Given the description of an element on the screen output the (x, y) to click on. 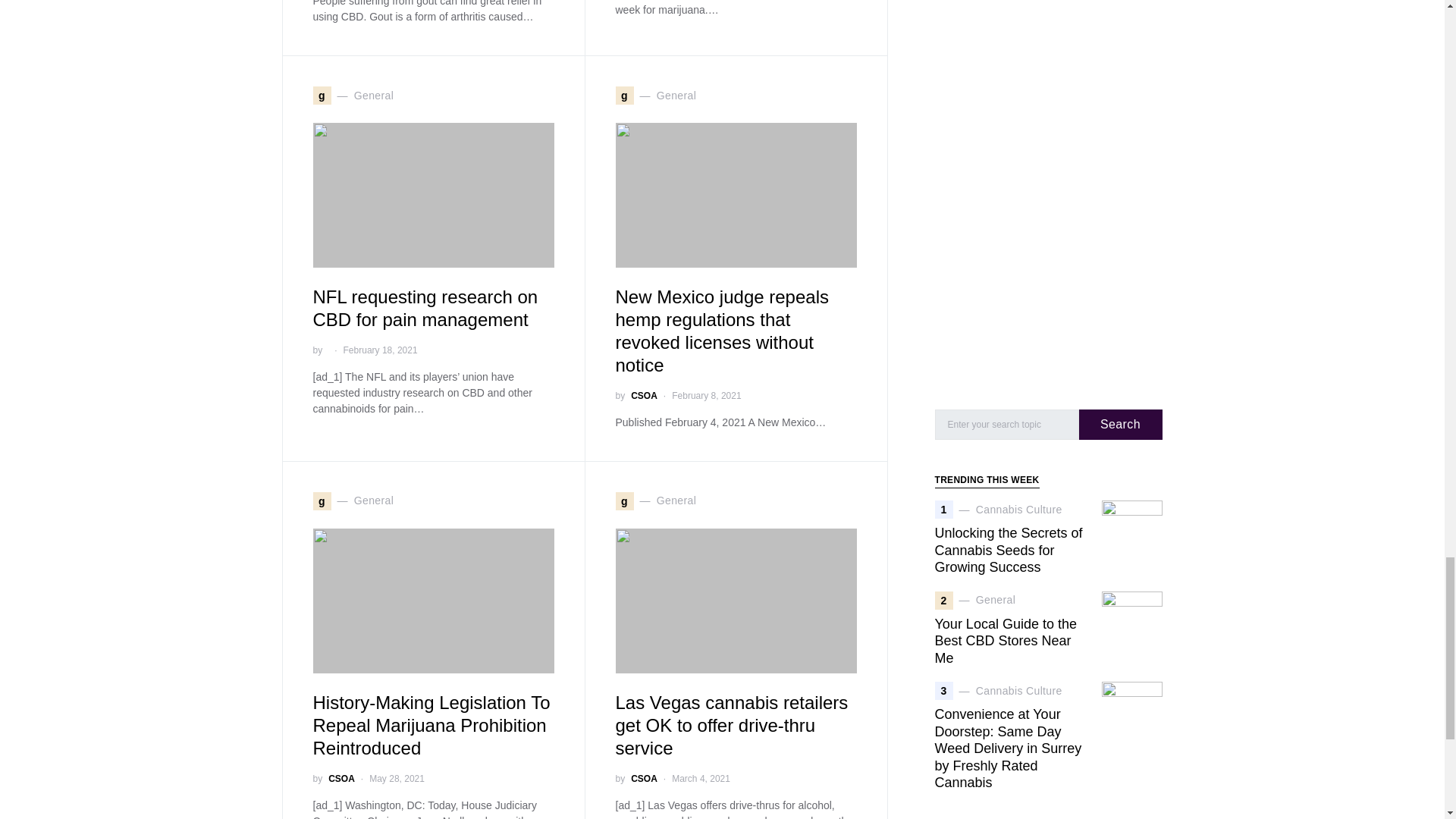
View all posts by CSOA (644, 395)
View all posts by CSOA (644, 778)
View all posts by CSOA (342, 778)
